Given the description of an element on the screen output the (x, y) to click on. 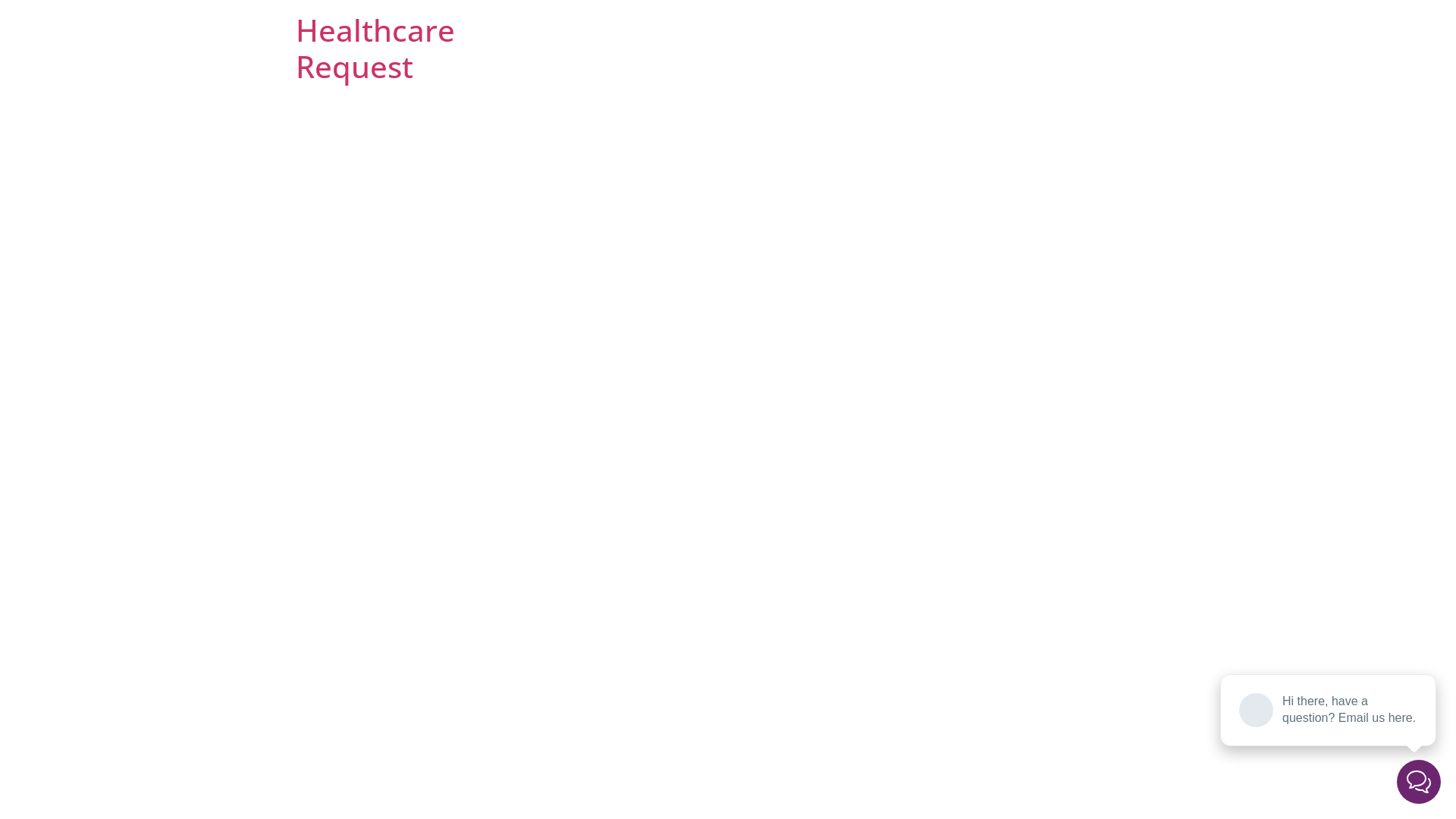
Healthcare Request Element type: text (375, 48)
